Given the description of an element on the screen output the (x, y) to click on. 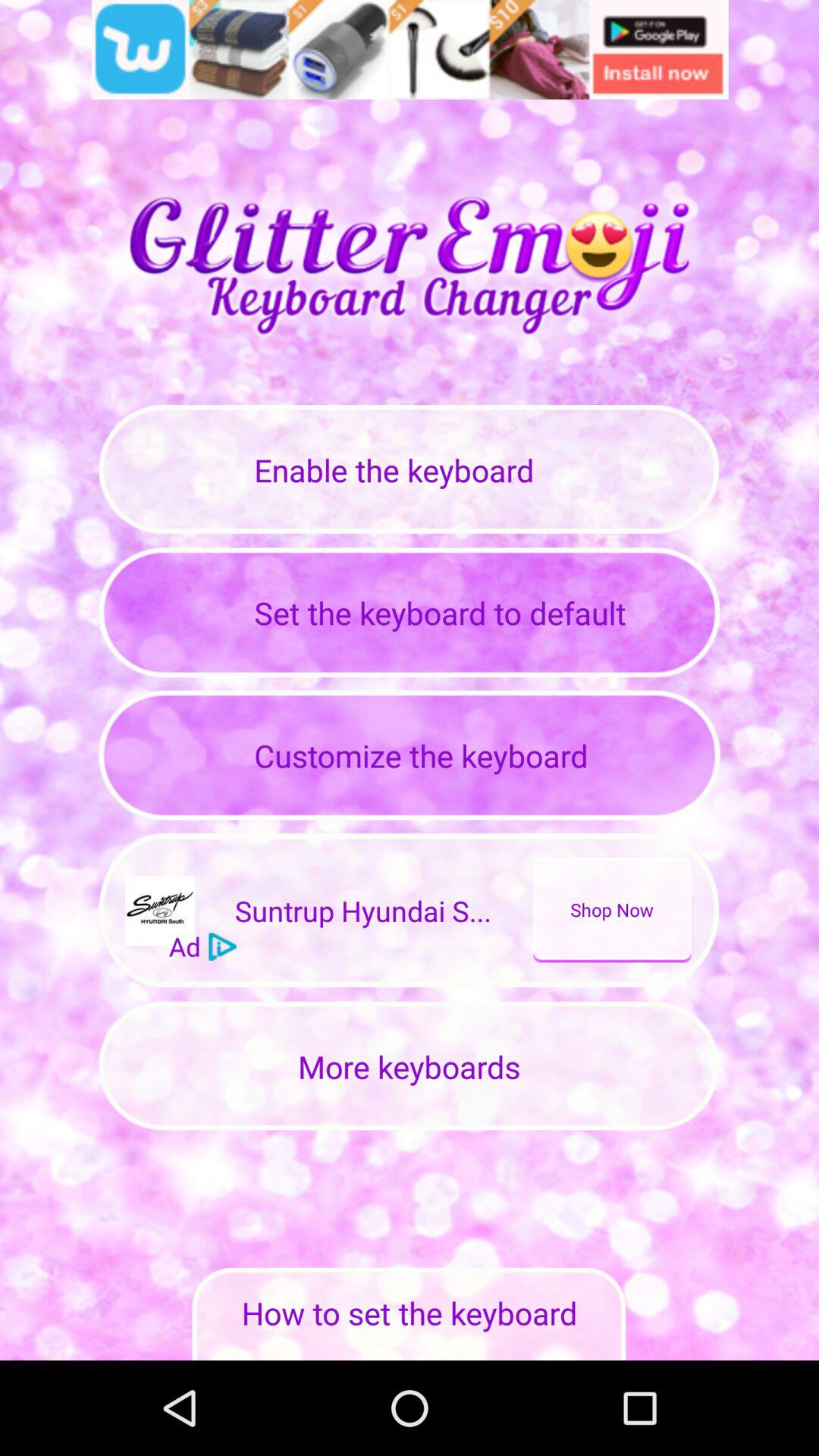
click advertisement (409, 49)
